Given the description of an element on the screen output the (x, y) to click on. 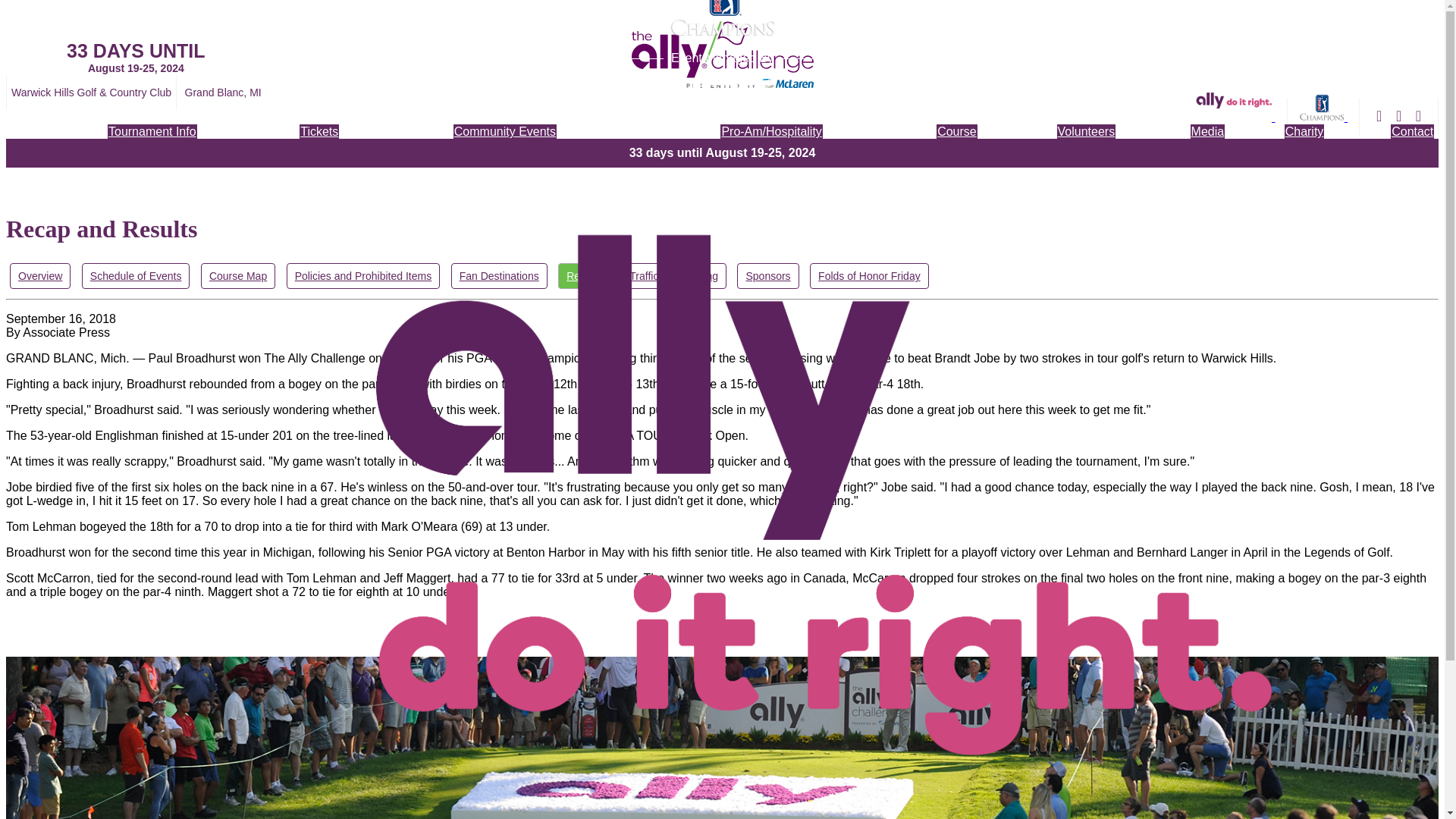
Media (1208, 131)
Tournament Info (151, 131)
Tickets (319, 131)
Charity (1304, 131)
Volunteers (1086, 131)
Course (956, 131)
Community Events (504, 131)
